Given the description of an element on the screen output the (x, y) to click on. 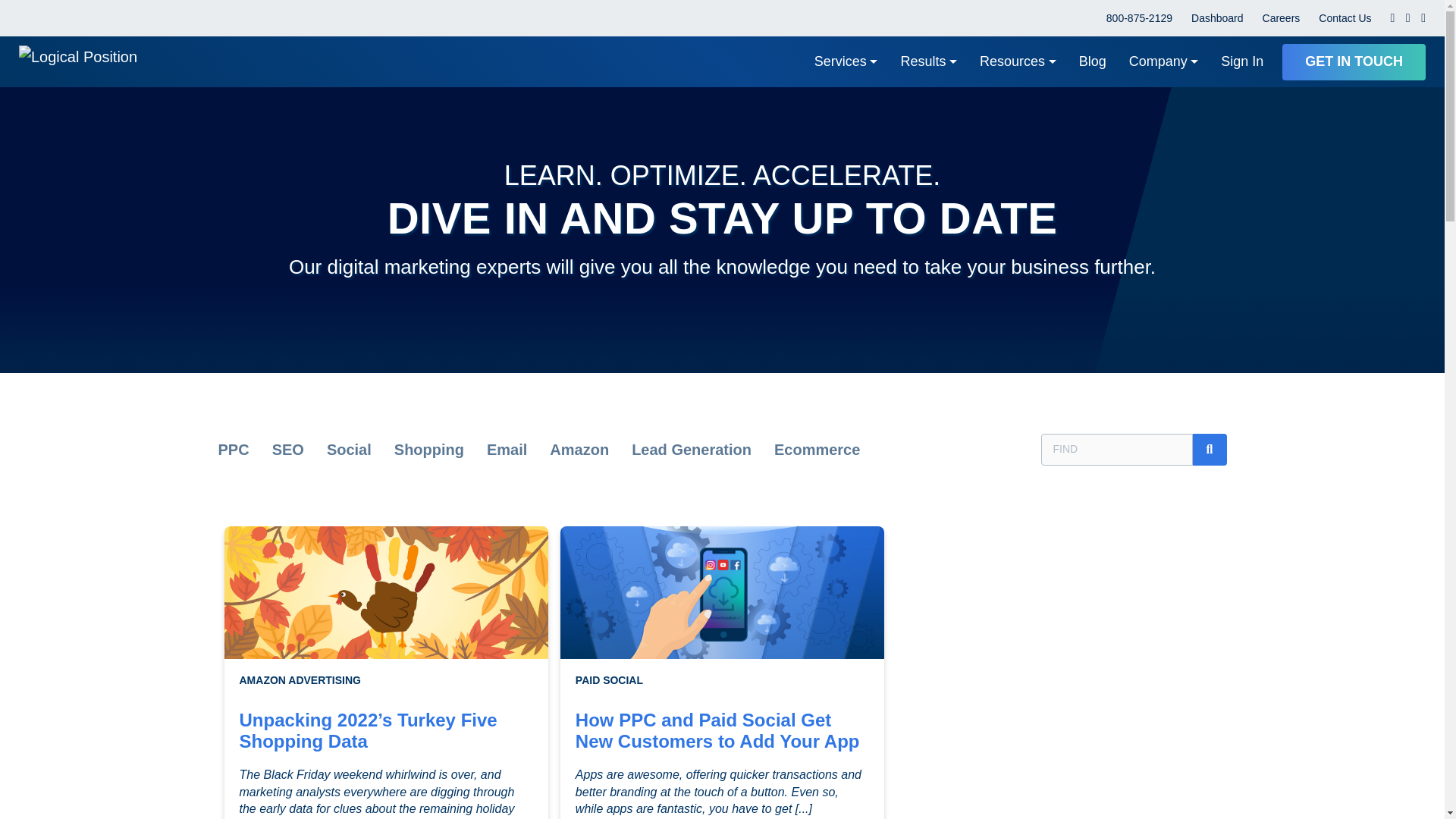
Results (928, 61)
Services (846, 61)
Blog (1092, 61)
Company (1163, 61)
800-875-2129 (1139, 18)
Services (846, 61)
Dashboard (1217, 18)
Contact Us (1345, 18)
Results (928, 61)
Resources (1017, 61)
